Given the description of an element on the screen output the (x, y) to click on. 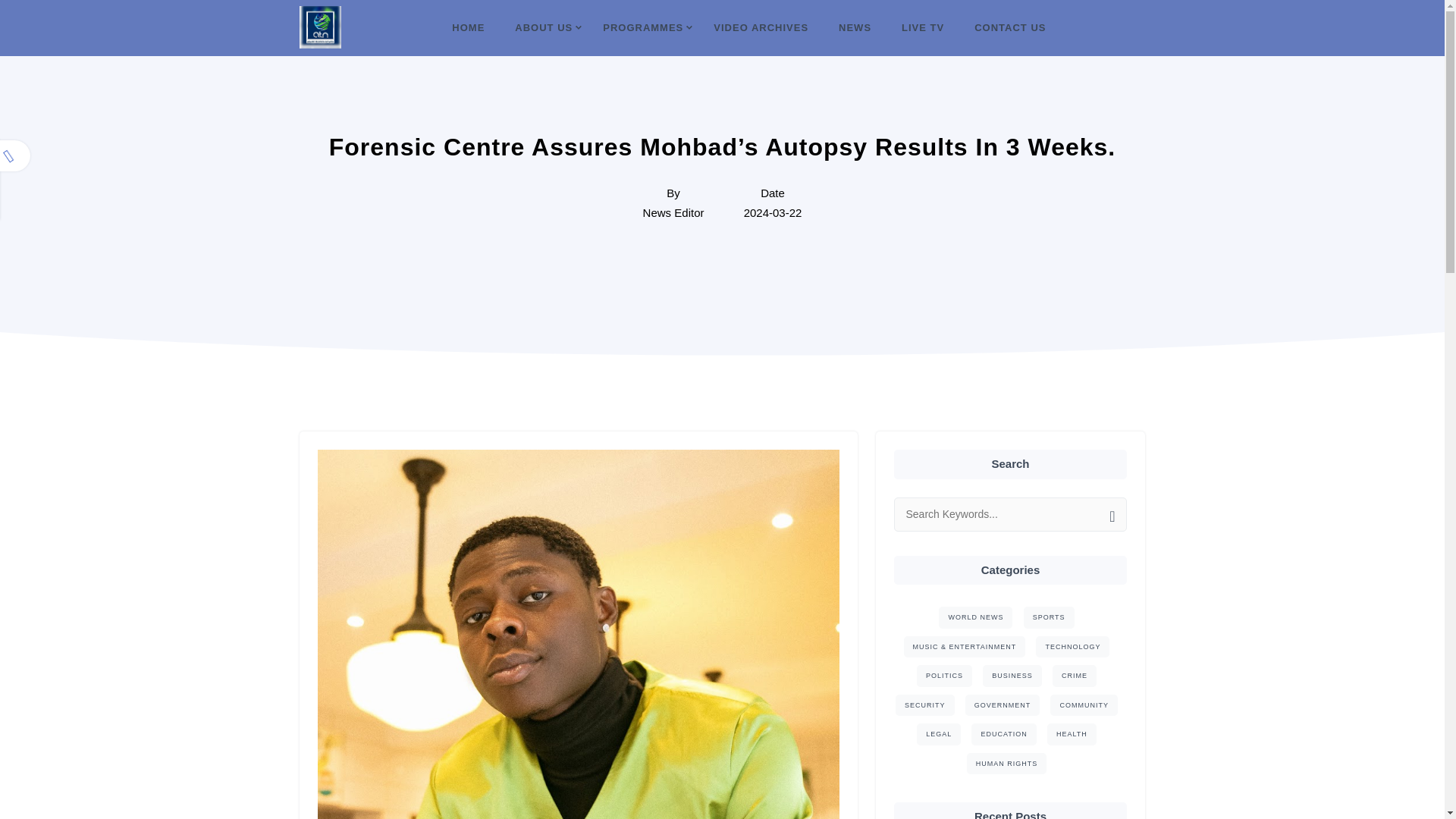
WORLD NEWS (975, 617)
SPORTS (1048, 617)
VIDEO ARCHIVES (760, 28)
COMMUNITY (1083, 705)
GOVERNMENT (1003, 705)
POLITICS (944, 676)
SECURITY (925, 705)
LIVE TV (922, 28)
HEALTH (1071, 734)
PROGRAMMES (642, 28)
